Given the description of an element on the screen output the (x, y) to click on. 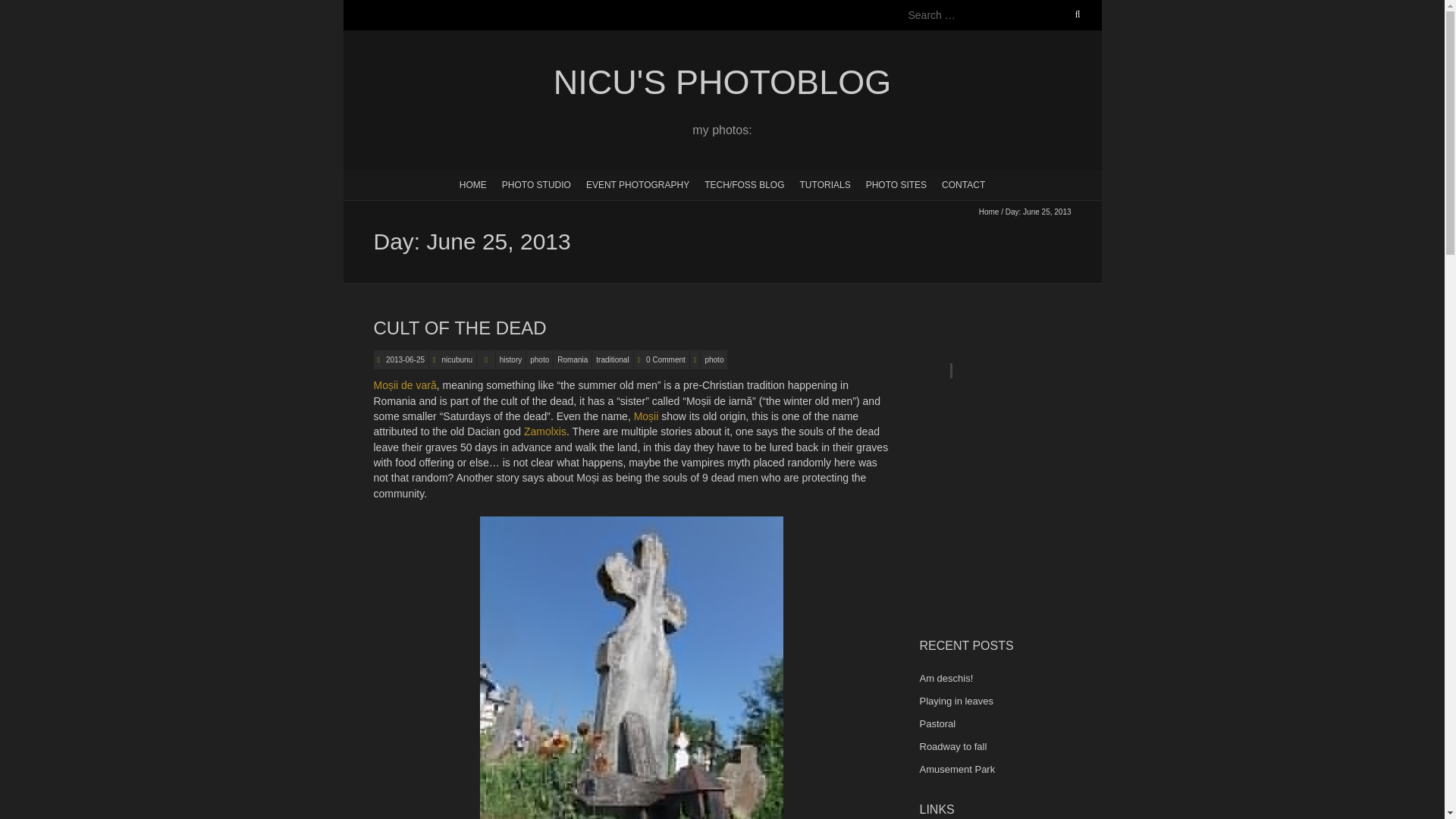
Home (988, 212)
HOME (473, 184)
nicu's photoblog (721, 82)
TUTORIALS (825, 184)
PHOTO STUDIO (536, 184)
traditional (611, 359)
Search (28, 9)
Zamolxis (545, 431)
history (510, 359)
PHOTO SITES (896, 184)
Cult of the dead (404, 359)
photo (539, 359)
EVENT PHOTOGRAPHY (637, 184)
photo (713, 359)
Romania (572, 359)
